Given the description of an element on the screen output the (x, y) to click on. 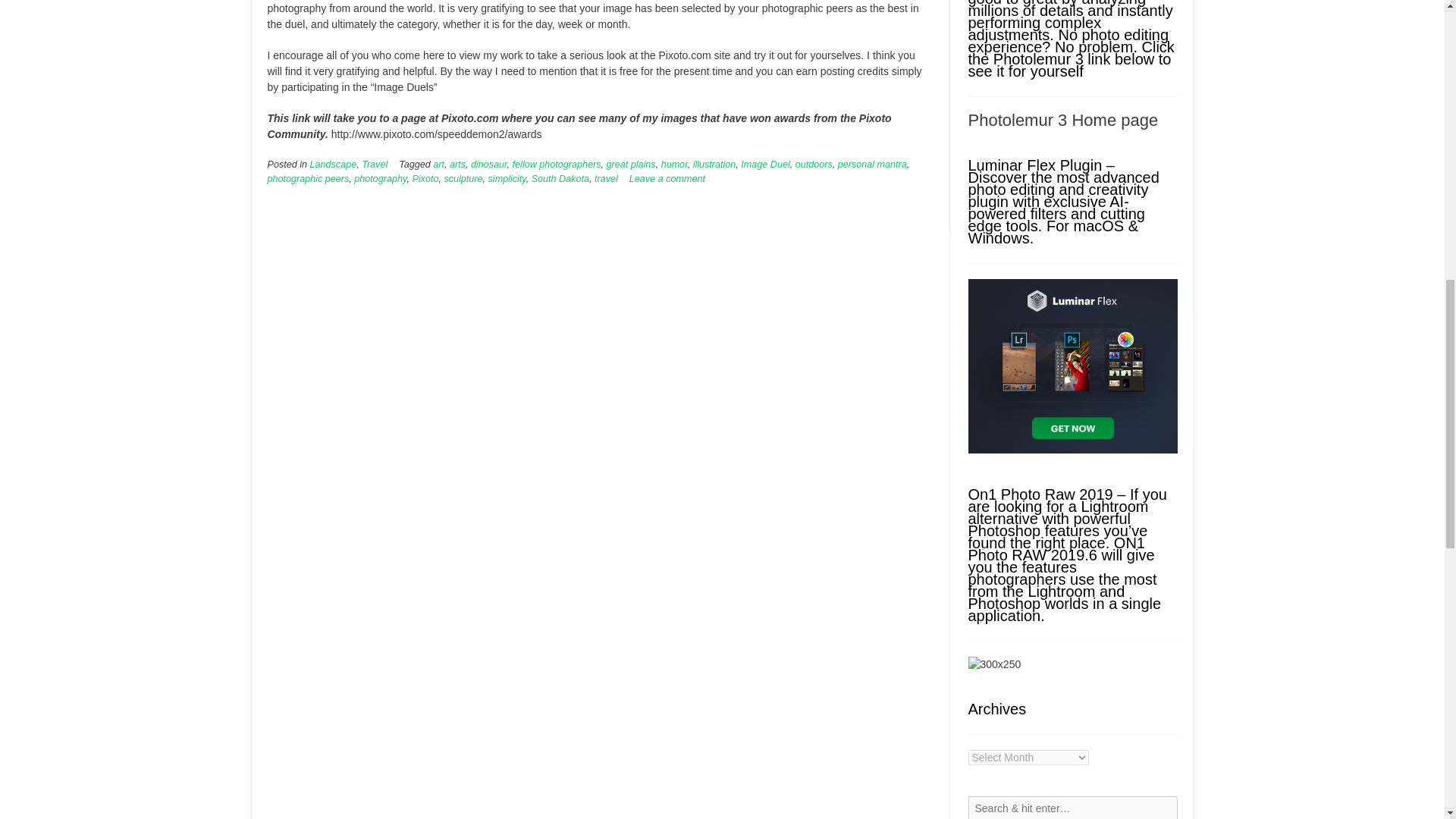
dinosaur (488, 163)
outdoors (813, 163)
Pixoto (425, 178)
Landscape (333, 163)
Leave a comment (666, 178)
photography (379, 178)
travel (605, 178)
photographic peers (307, 178)
Travel (374, 163)
fellow photographers (556, 163)
